Given the description of an element on the screen output the (x, y) to click on. 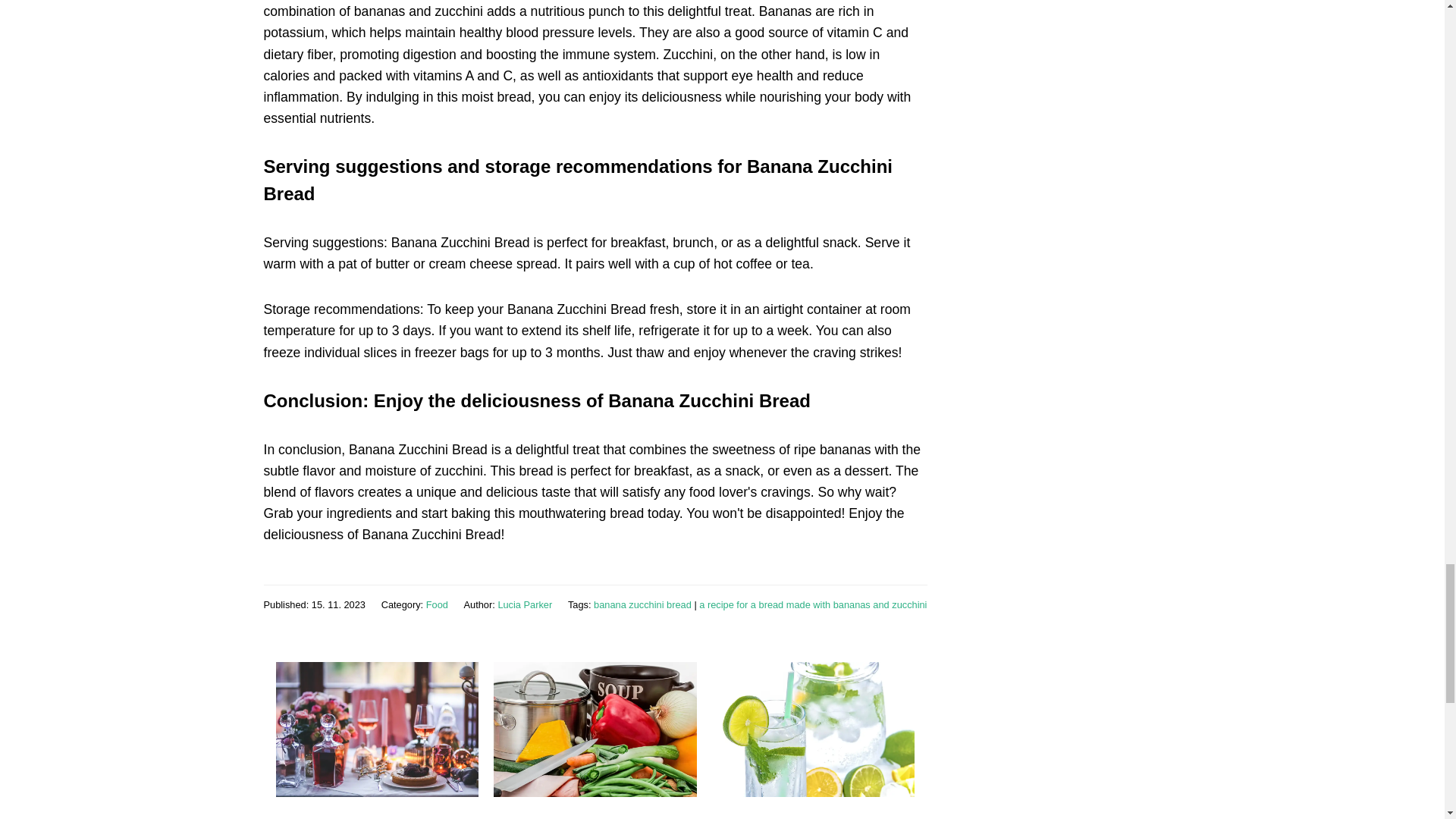
banana zucchini bread (642, 604)
Refreshing Lemonade: A Zesty Twist to Quench Your Thirst (809, 817)
Lucia Parker (524, 604)
a recipe for a bread made with bananas and zucchini (812, 604)
Food (437, 604)
